Given the description of an element on the screen output the (x, y) to click on. 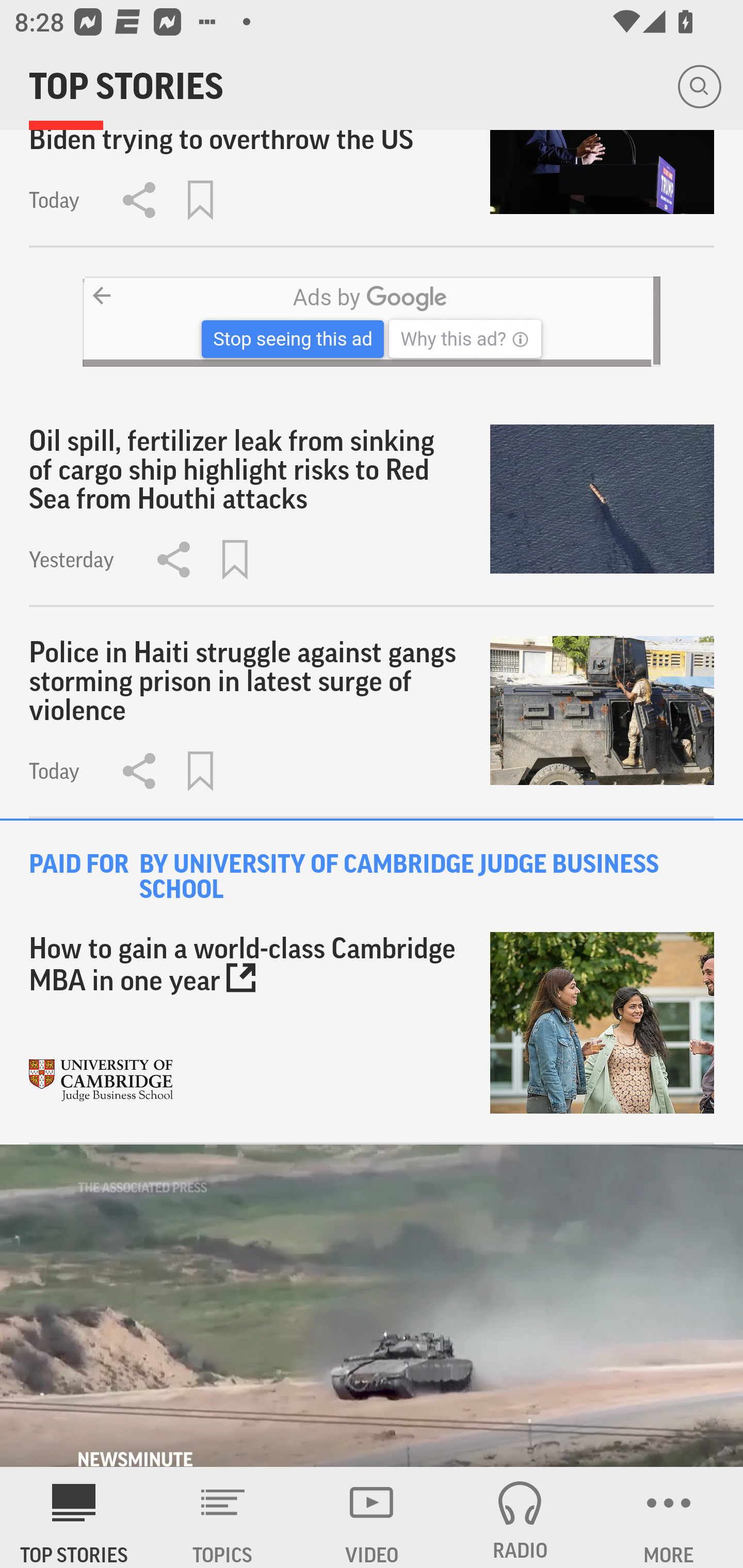
toggle controls (371, 1305)
AP News TOP STORIES (74, 1517)
TOPICS (222, 1517)
VIDEO (371, 1517)
RADIO (519, 1517)
MORE (668, 1517)
